Given the description of an element on the screen output the (x, y) to click on. 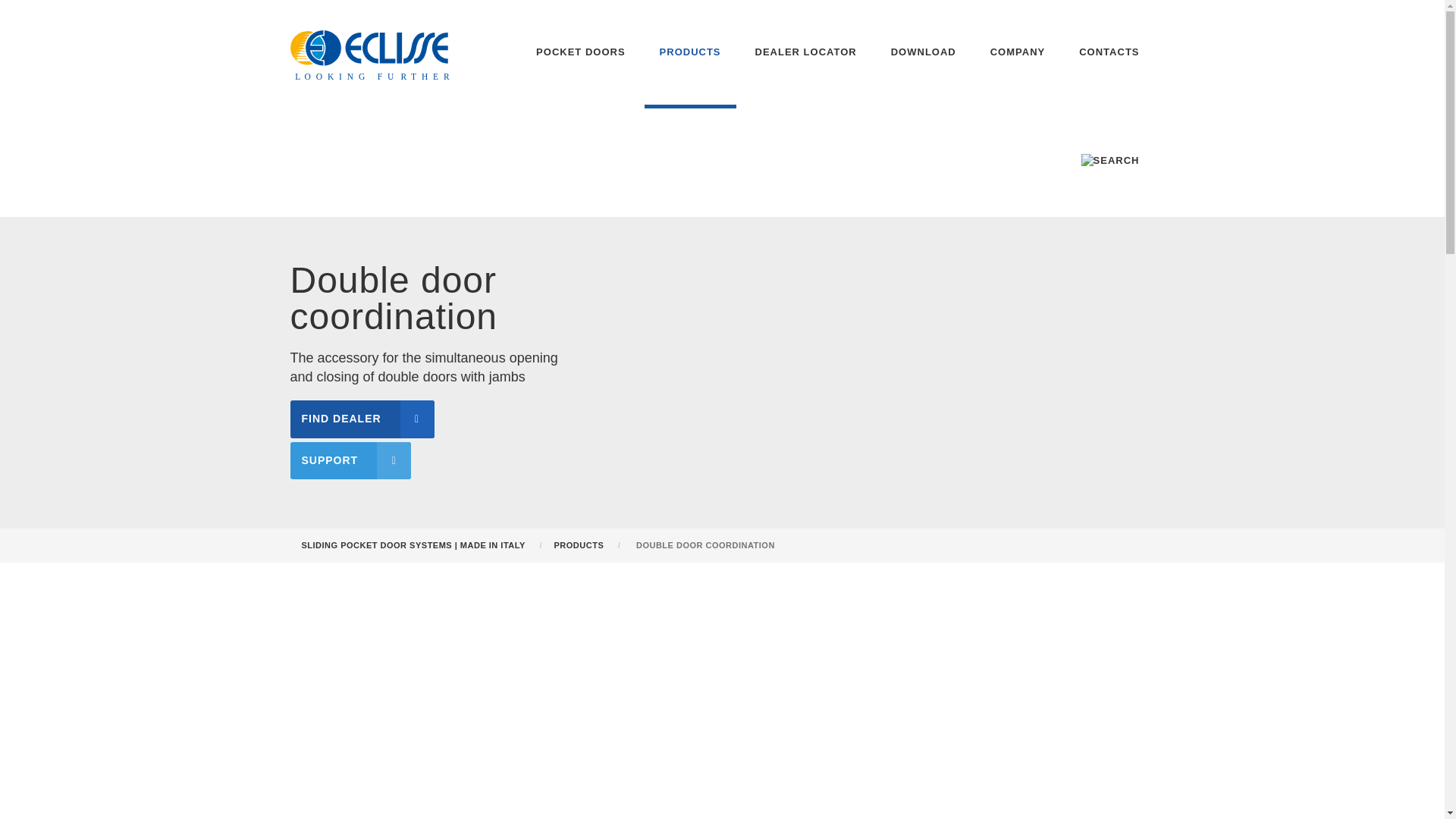
DEALER LOCATOR (805, 54)
PRODUCTS (579, 545)
POCKET DOORS (580, 54)
SUPPORT (349, 460)
Eclisse (370, 55)
FIND DEALER (361, 418)
Search (1110, 160)
